Given the description of an element on the screen output the (x, y) to click on. 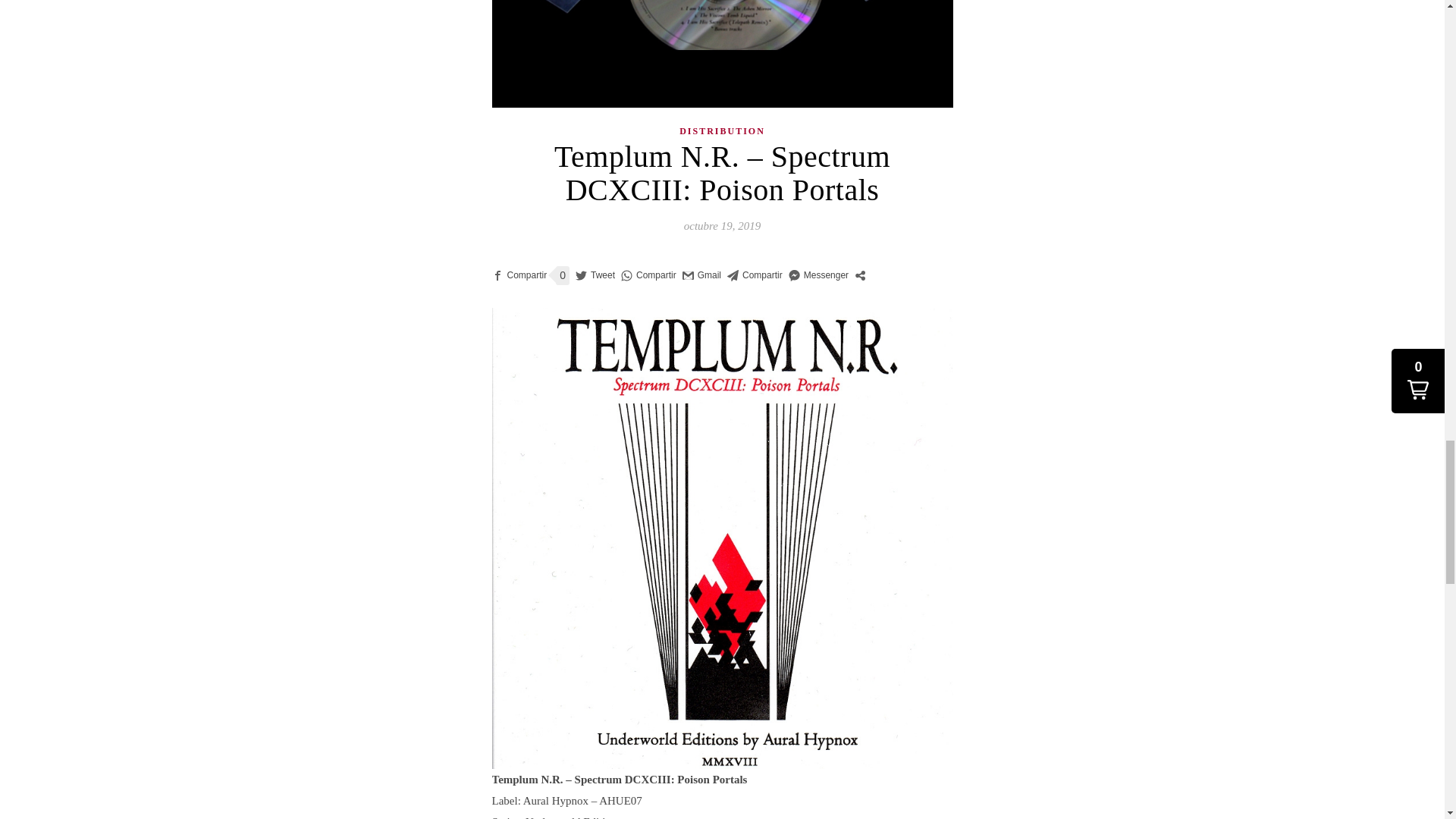
Compartir en WhatsApp (649, 275)
Compartir en Telegram (754, 275)
DISTRIBUTION (722, 131)
Compartir en Facebook (519, 275)
Tweet (594, 275)
Enviar por Gmail (701, 275)
